Given the description of an element on the screen output the (x, y) to click on. 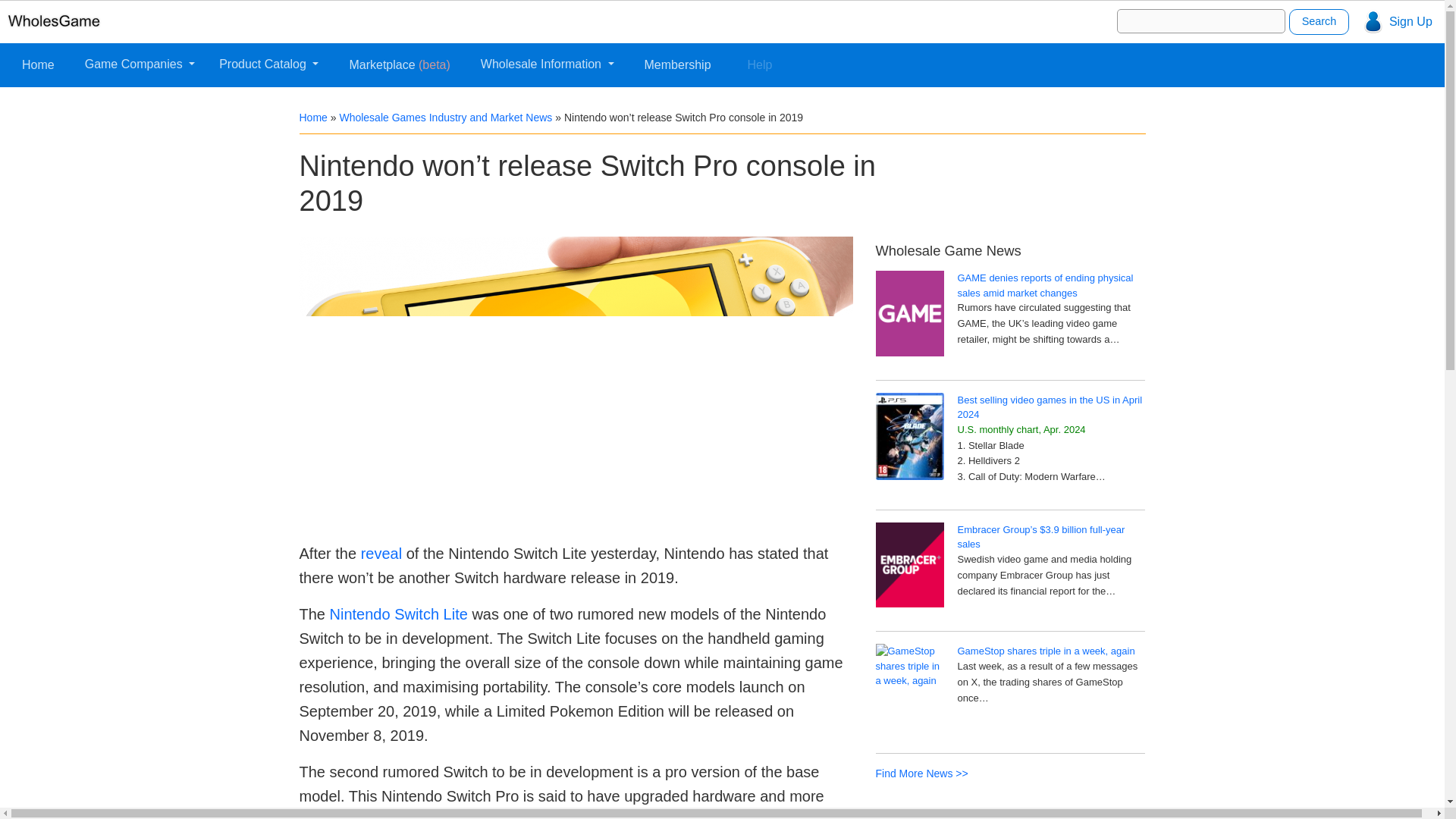
Wholesale Games Industry and Market News (445, 117)
Search (1318, 22)
Search (1318, 22)
Nintendo Switch Lite (398, 614)
Wholesale Information (547, 63)
Product Catalog (268, 63)
reveal (381, 553)
Membership (678, 65)
Home (312, 117)
Help (759, 65)
